Given the description of an element on the screen output the (x, y) to click on. 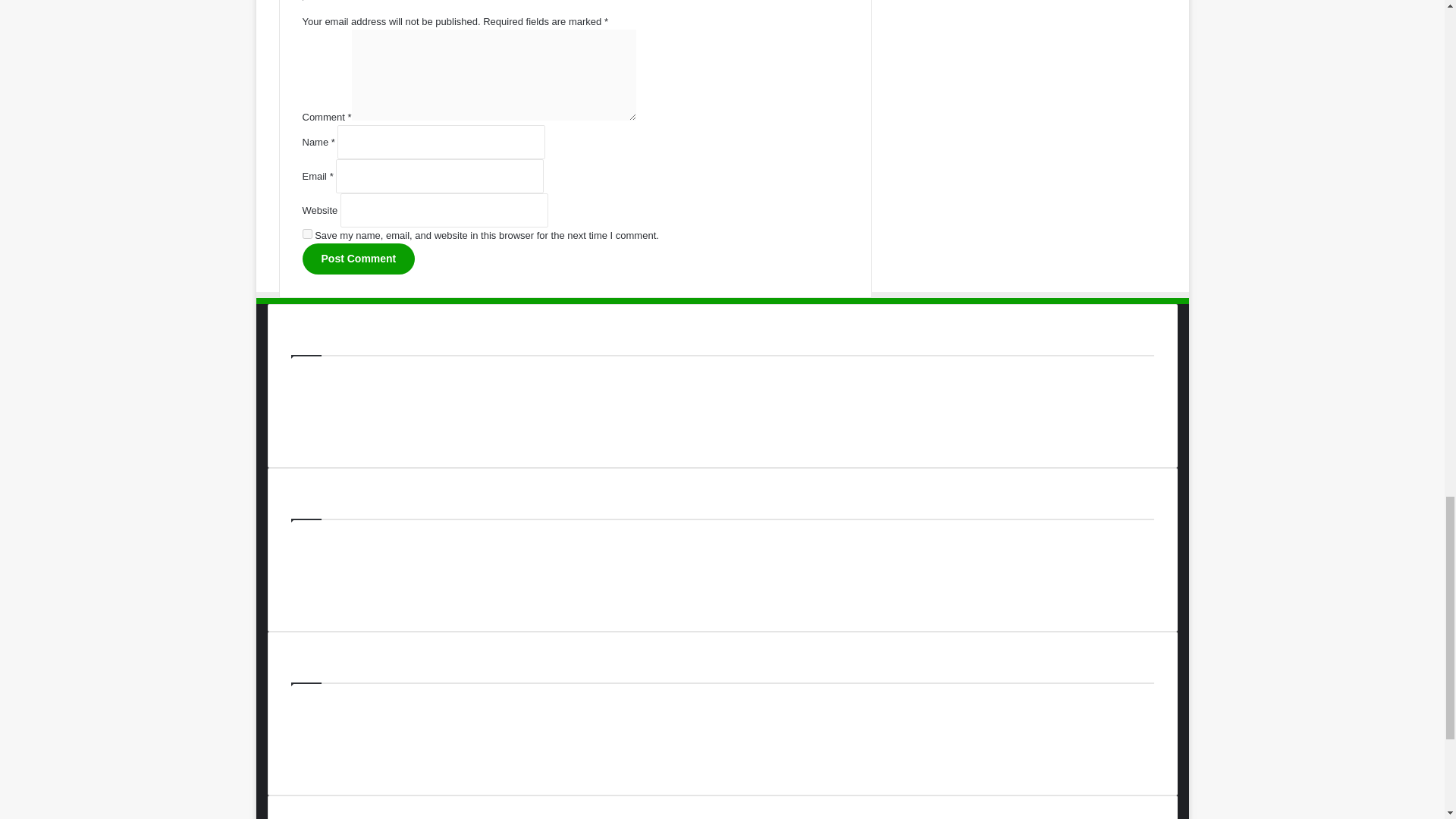
yes (306, 234)
Post Comment (357, 258)
Post Comment (357, 258)
